Given the description of an element on the screen output the (x, y) to click on. 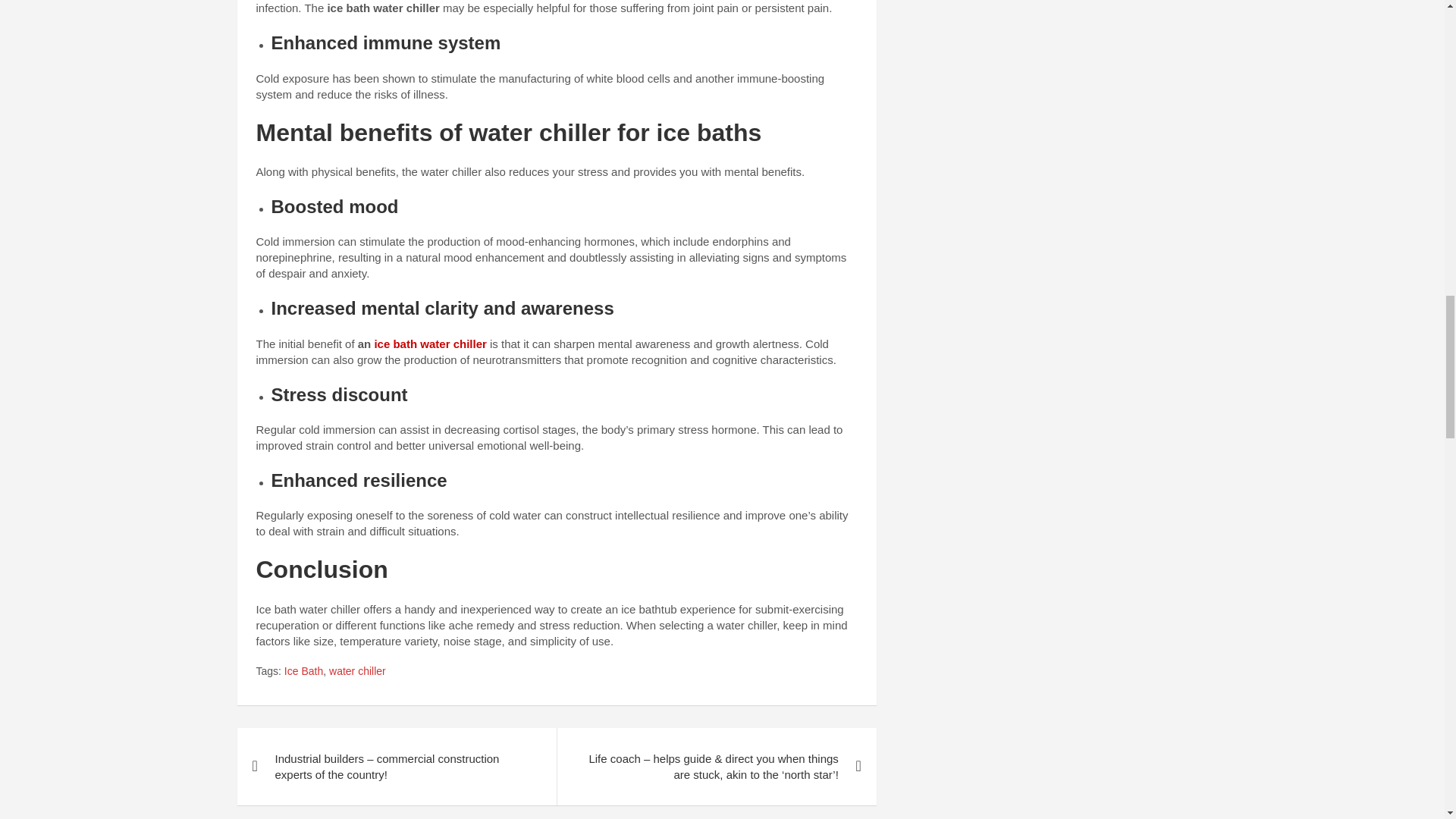
ice bath water chiller (430, 343)
water chiller (357, 671)
Ice Bath (303, 671)
